Given the description of an element on the screen output the (x, y) to click on. 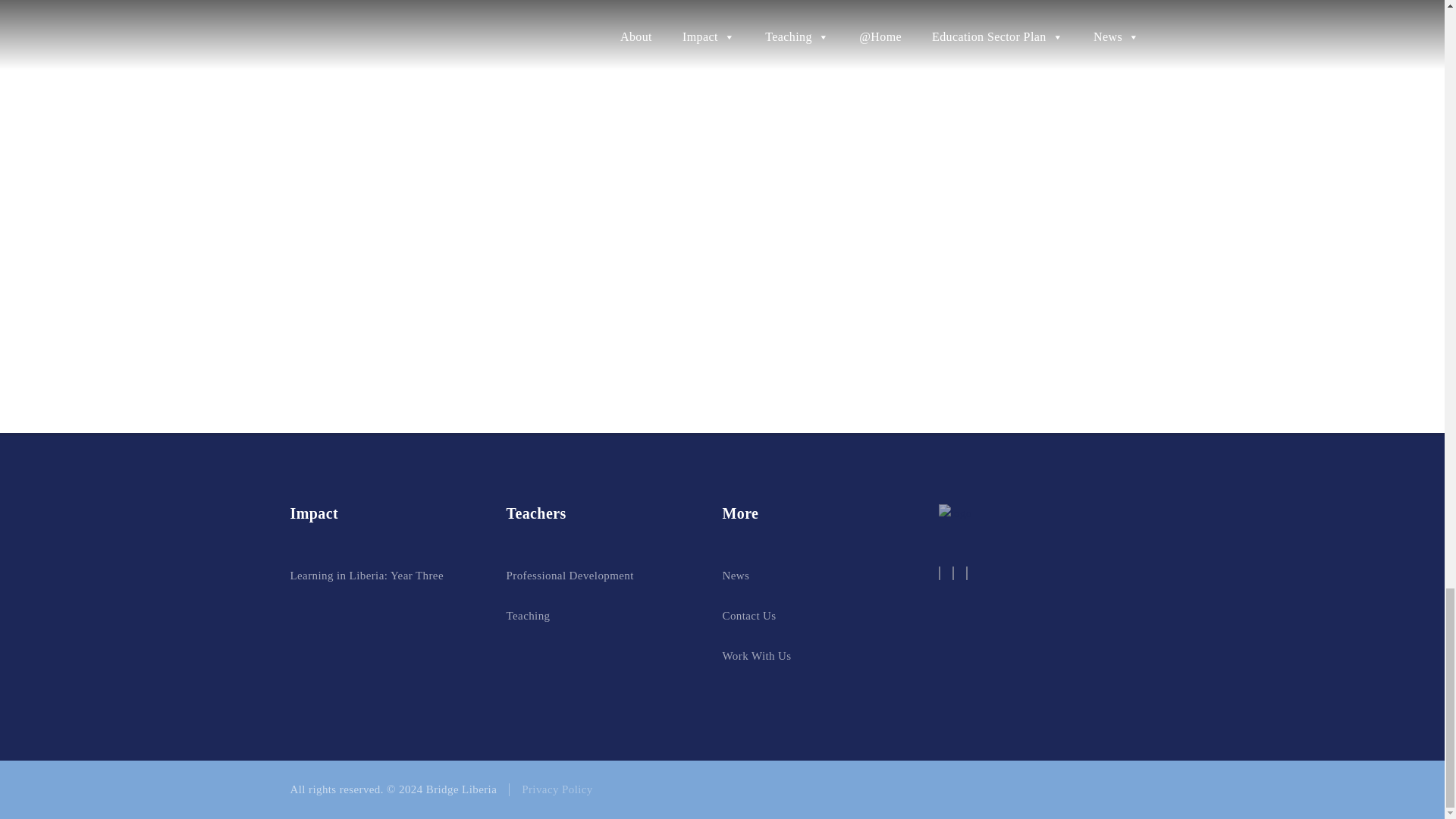
Teaching (528, 615)
Professional Development (569, 575)
Learning in Liberia: Year Three (365, 575)
